Given the description of an element on the screen output the (x, y) to click on. 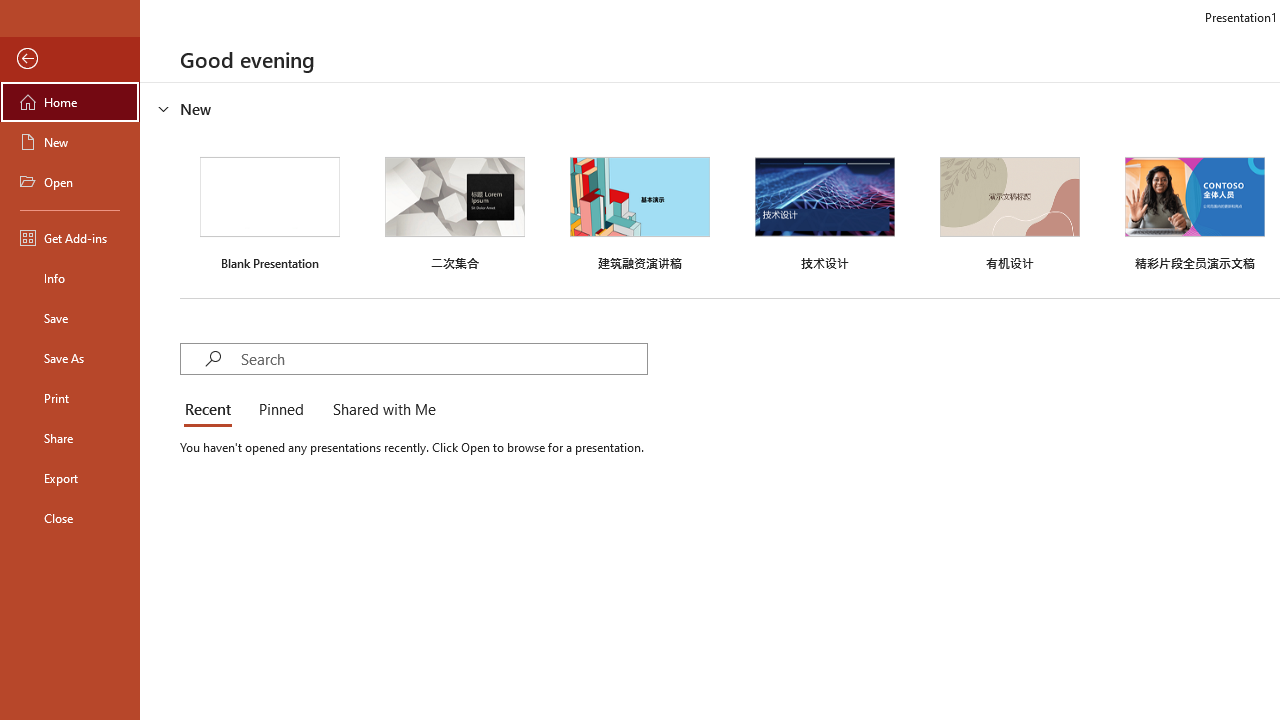
Hide or show region (164, 108)
Export (69, 477)
Get Add-ins (69, 237)
New (69, 141)
Info (69, 277)
